Given the description of an element on the screen output the (x, y) to click on. 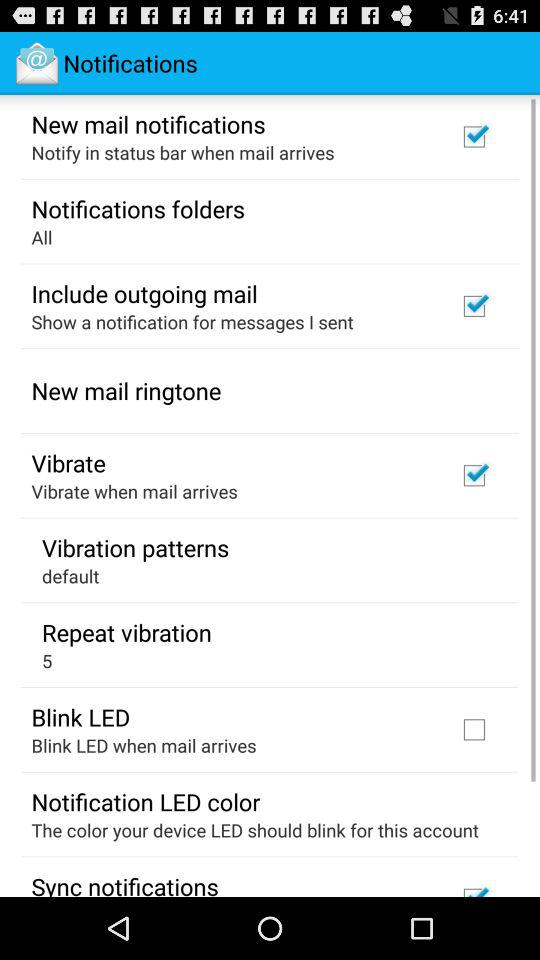
open the app below all item (144, 293)
